Given the description of an element on the screen output the (x, y) to click on. 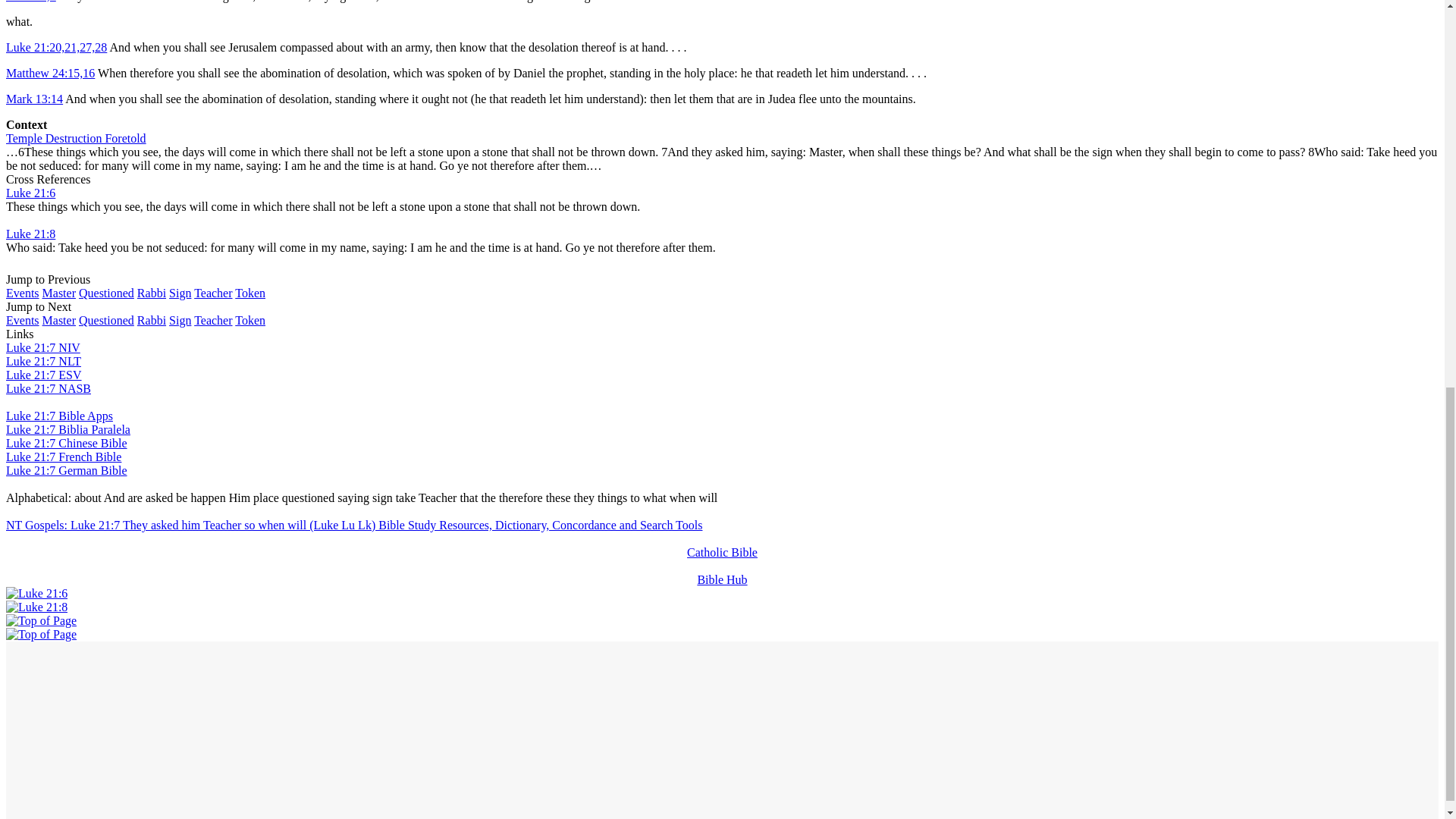
Matthew 24:15,16 (49, 72)
Luke 21:7 NIV (42, 347)
Questioned (105, 292)
Luke 21:8 (35, 606)
Master (58, 319)
Sign (179, 292)
Teacher (212, 319)
Events (22, 292)
Luke 21:7 ESV (43, 374)
Top of Page (41, 634)
